Given the description of an element on the screen output the (x, y) to click on. 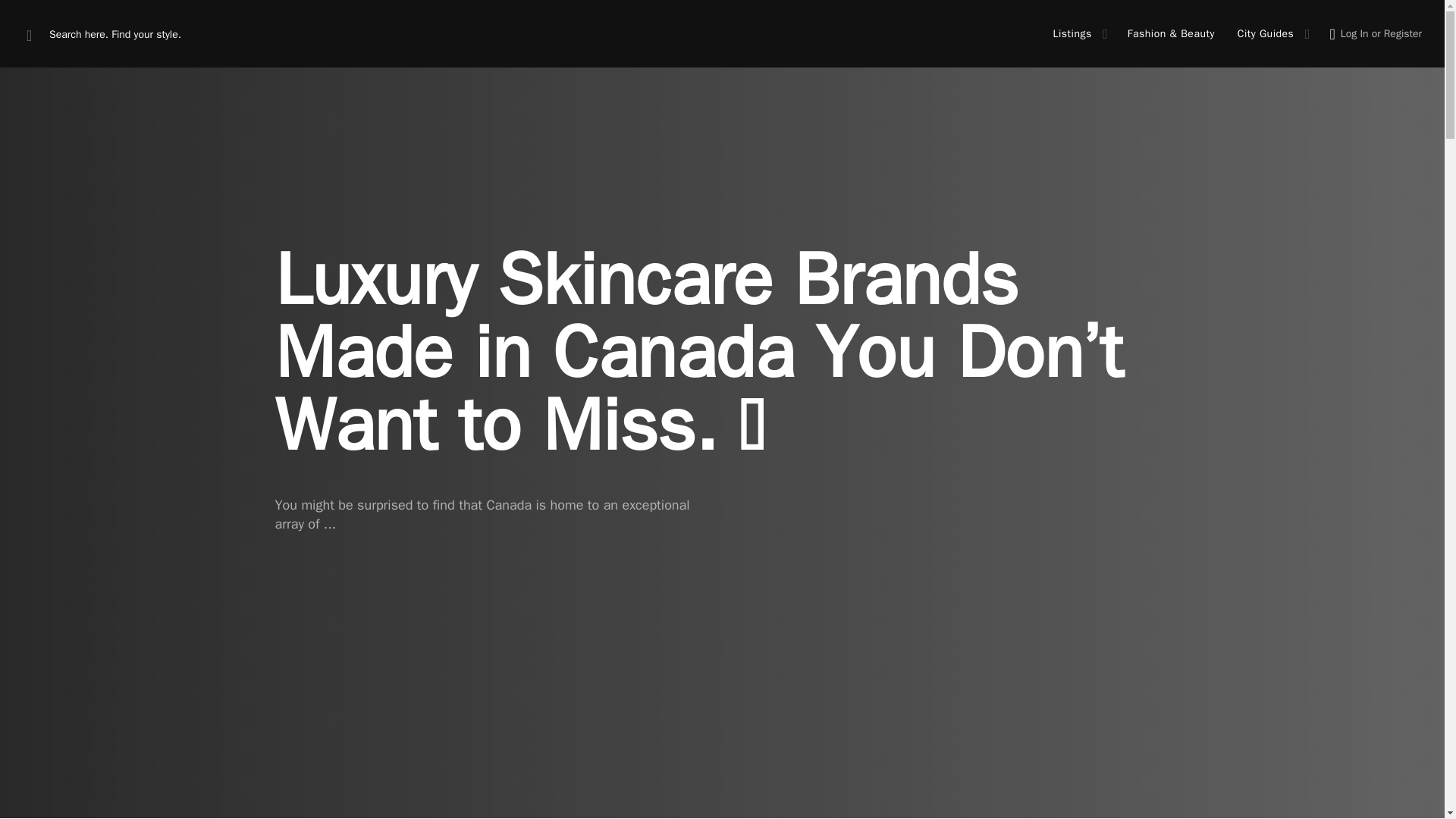
City Guides (1265, 32)
Listings (1071, 32)
Register (1403, 33)
Log In (1354, 33)
